Given the description of an element on the screen output the (x, y) to click on. 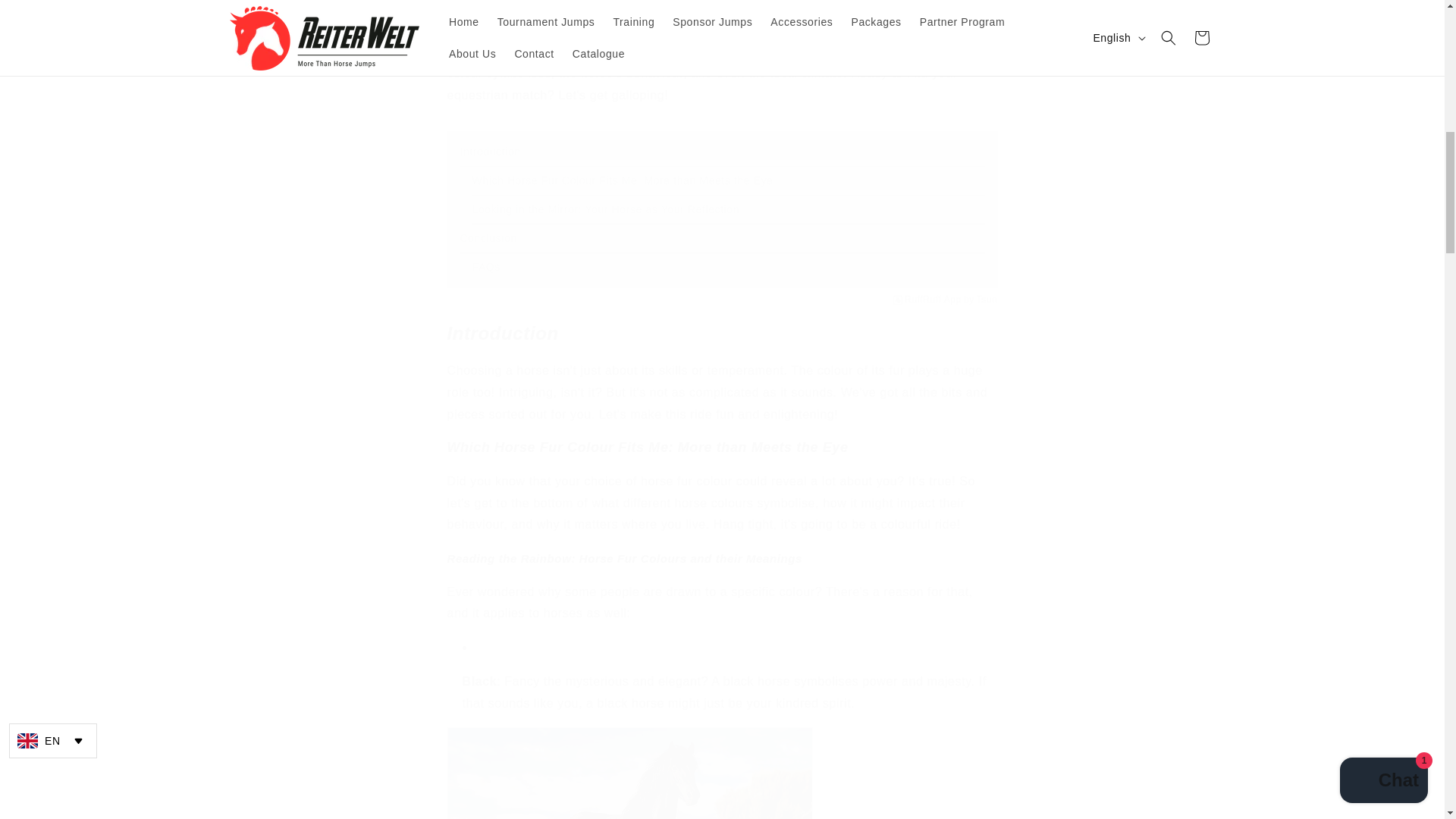
Tsun (986, 300)
RuffRuff App (932, 300)
Introduction (489, 151)
